Given the description of an element on the screen output the (x, y) to click on. 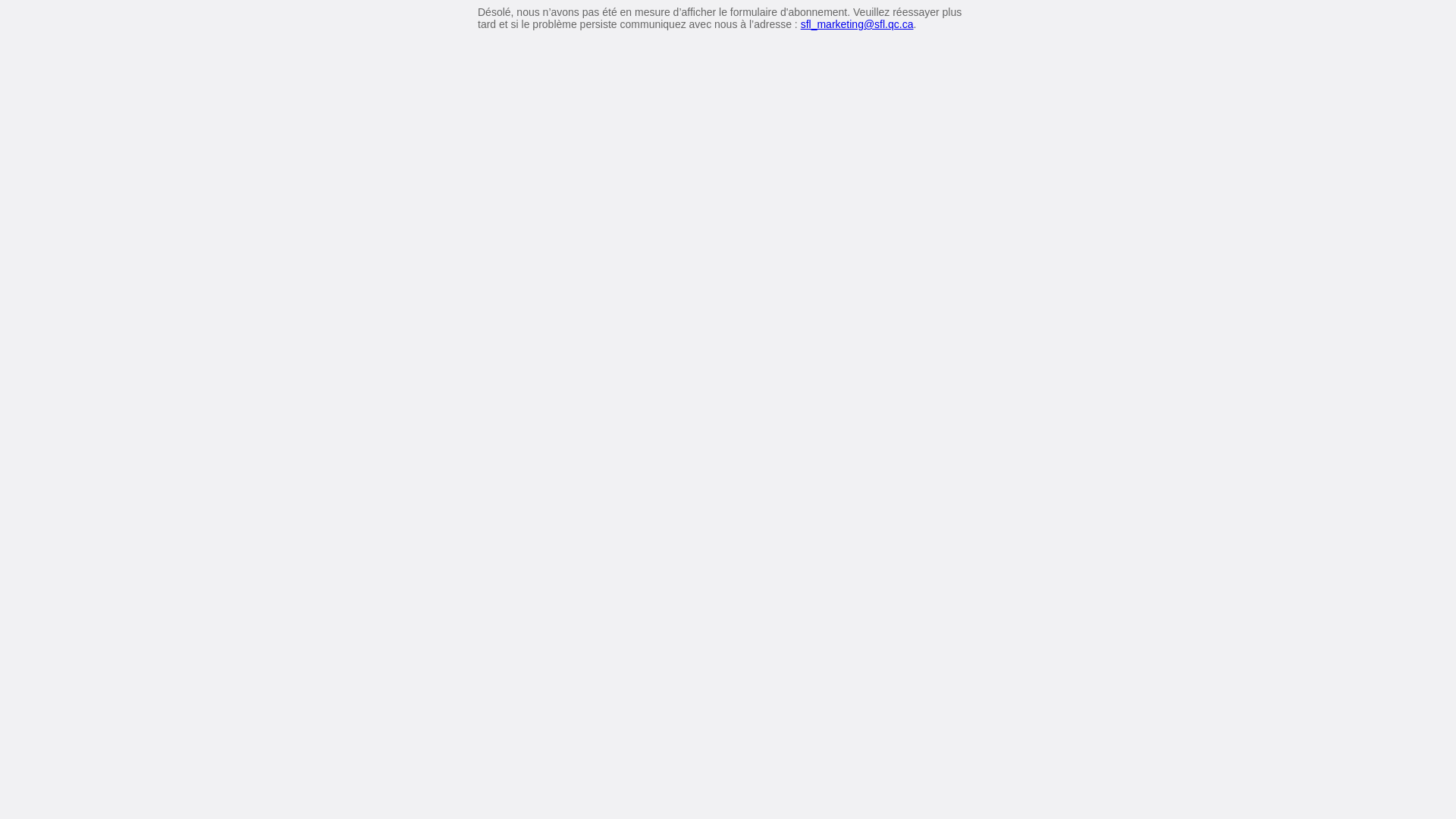
sfl_marketing@sfl.qc.ca Element type: text (856, 24)
